Given the description of an element on the screen output the (x, y) to click on. 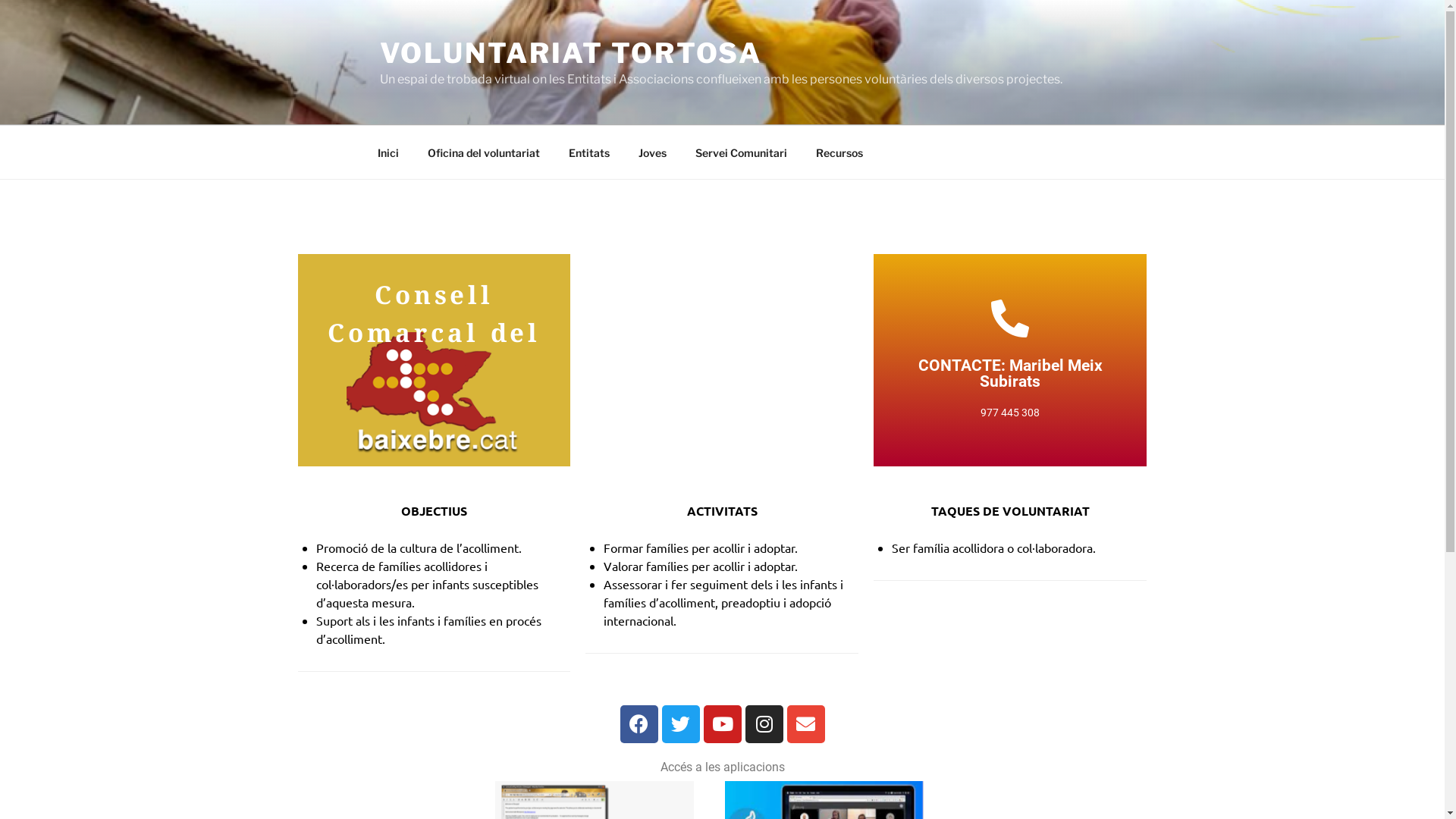
Oficina del voluntariat Element type: text (483, 151)
www.baixebre.cat Element type: text (433, 296)
Joves Element type: text (651, 151)
Servei Comunitari Element type: text (741, 151)
Entitats Element type: text (588, 151)
 C. Barcelona, 152  -  43500 Tortosa  Element type: hover (721, 367)
656 980 163 Element type: text (1010, 344)
Recursos Element type: text (838, 151)
Inici Element type: text (387, 151)
VOLUNTARIAT TORTOSA Element type: text (570, 52)
